Given the description of an element on the screen output the (x, y) to click on. 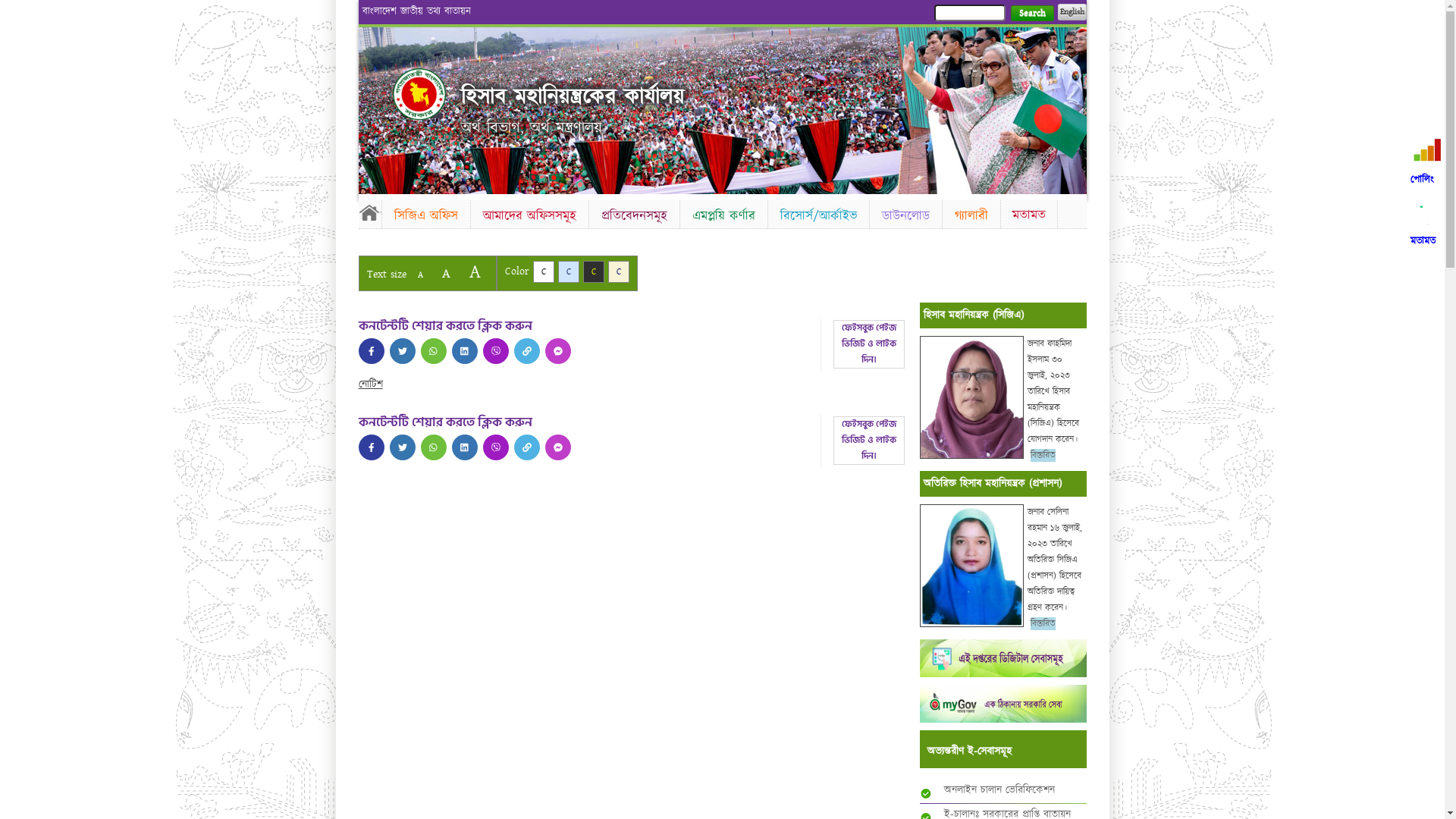
C Element type: text (618, 271)
Home Element type: hover (368, 211)
A Element type: text (474, 271)
C Element type: text (592, 271)
Home Element type: hover (418, 93)
A Element type: text (419, 274)
English Element type: text (1071, 11)
C Element type: text (568, 271)
A Element type: text (445, 273)
Search Element type: text (1031, 13)
C Element type: text (542, 271)
